Given the description of an element on the screen output the (x, y) to click on. 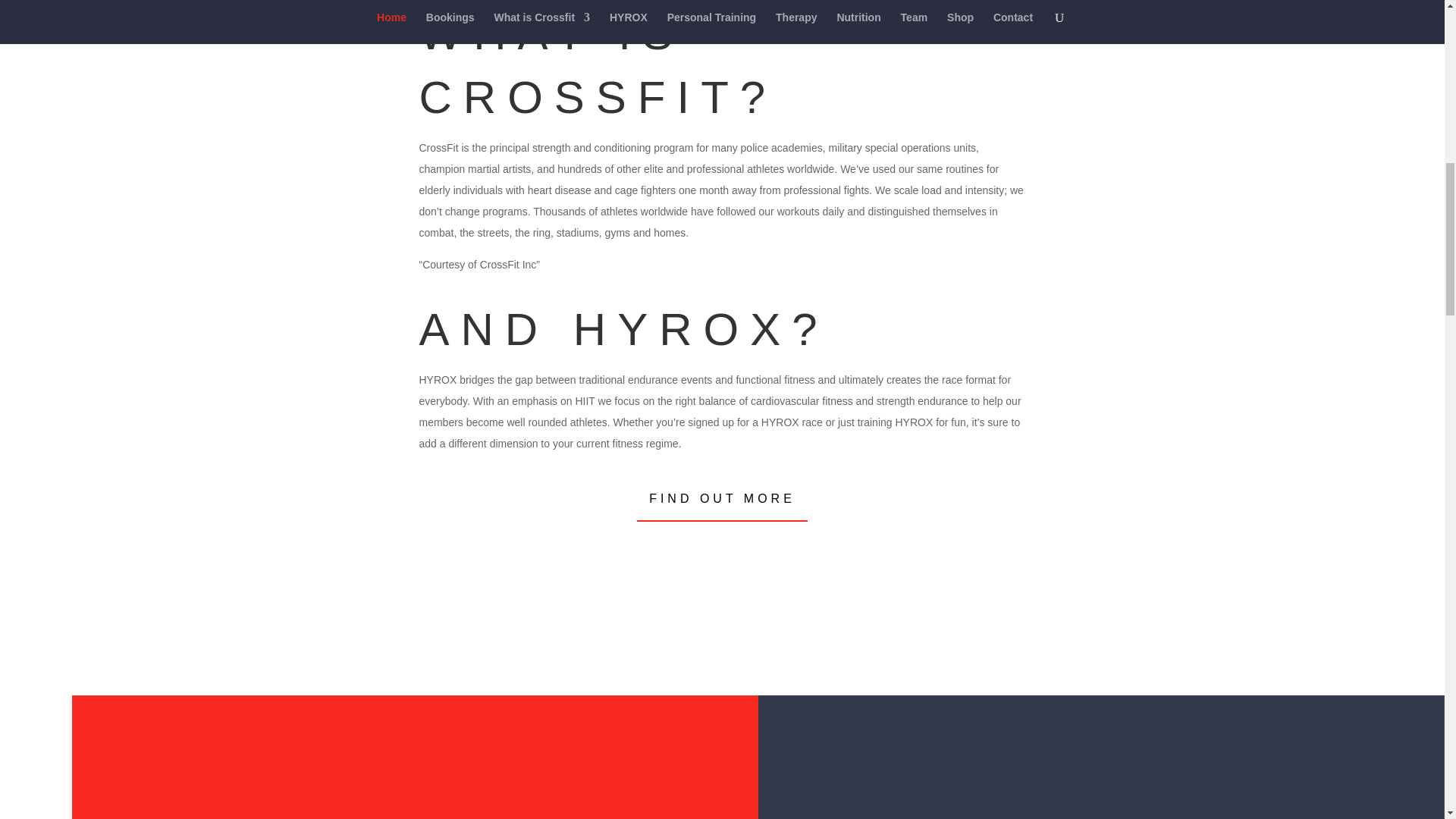
FIND OUT MORE (722, 498)
